Given the description of an element on the screen output the (x, y) to click on. 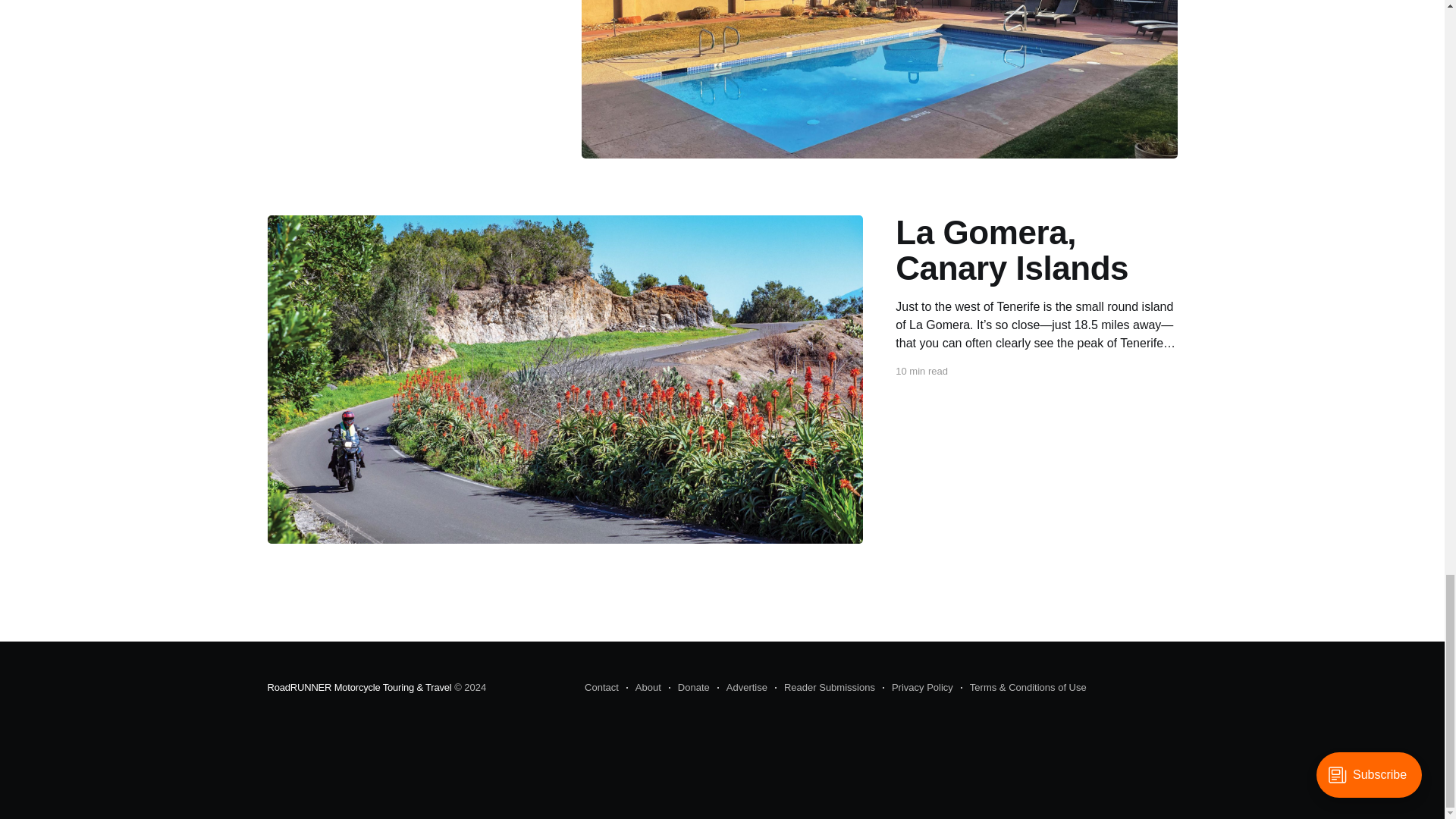
Advertise (742, 687)
Reader Submissions (824, 687)
Donate (689, 687)
Privacy Policy (917, 687)
Contact (601, 687)
About (643, 687)
